Given the description of an element on the screen output the (x, y) to click on. 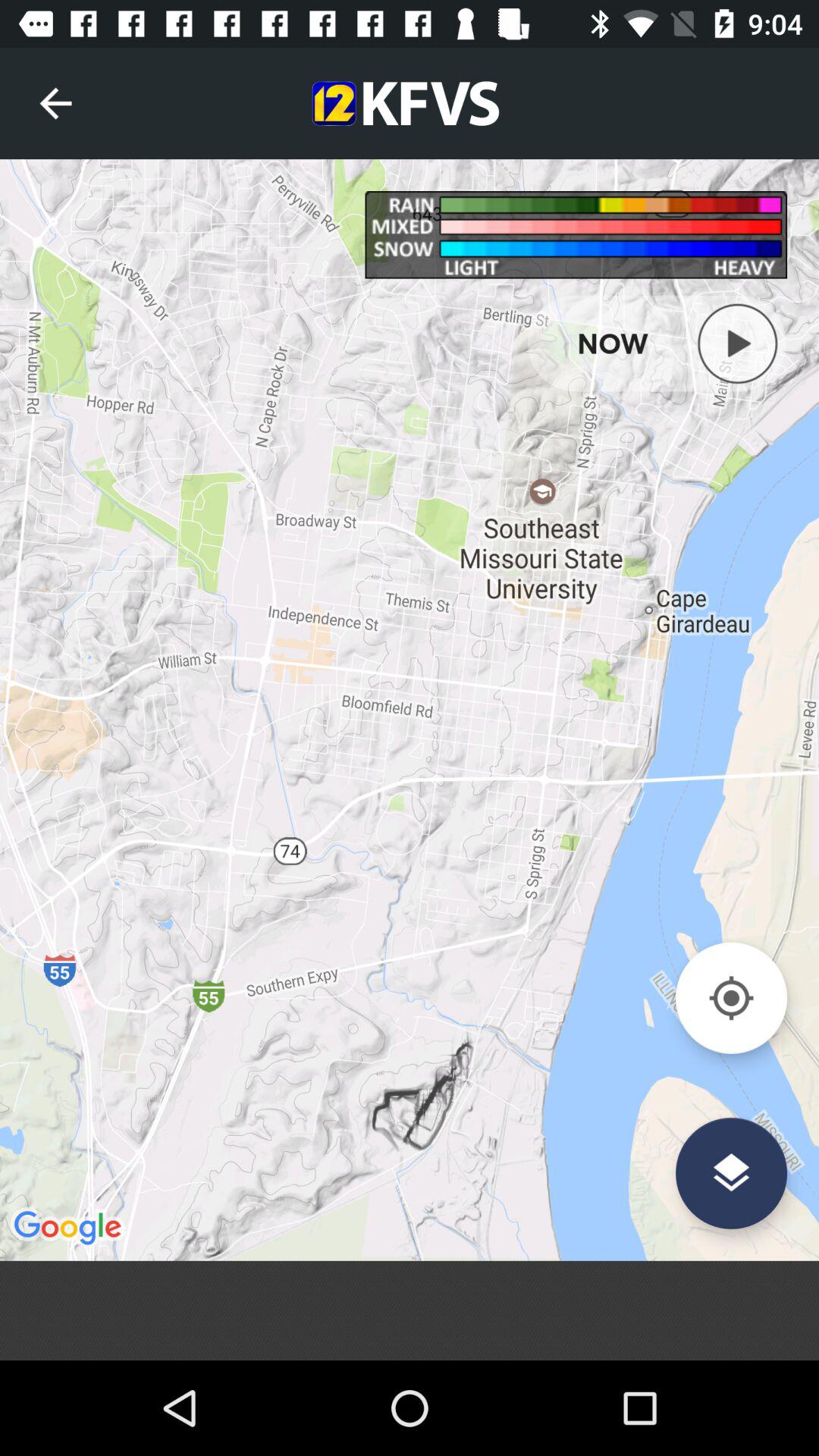
see 3d version (731, 1173)
